Given the description of an element on the screen output the (x, y) to click on. 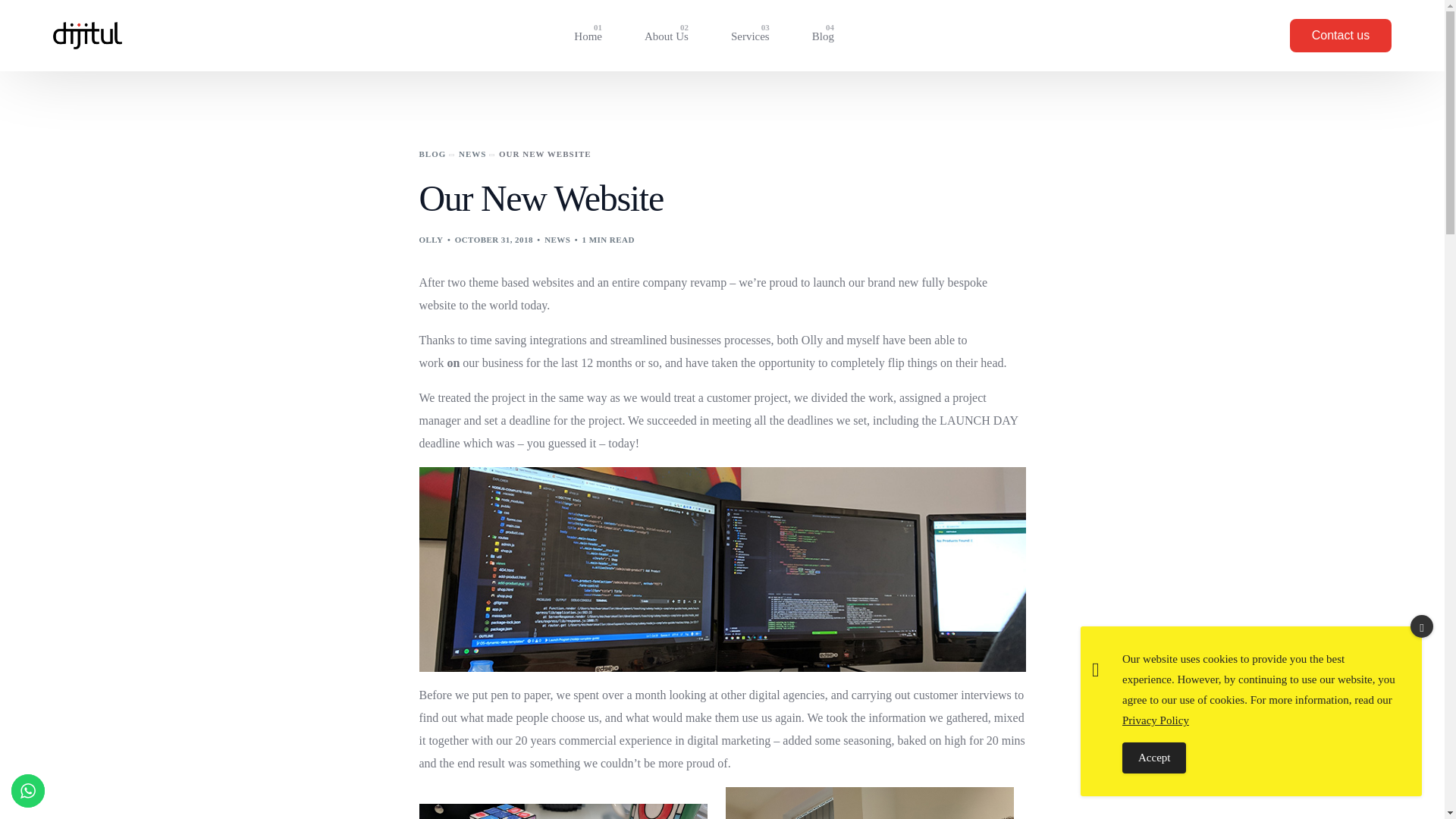
NEWS (472, 153)
Privacy Policy (1155, 722)
Posts by Olly (750, 35)
NEWS (588, 35)
BLOG (666, 35)
Accept (823, 35)
